Given the description of an element on the screen output the (x, y) to click on. 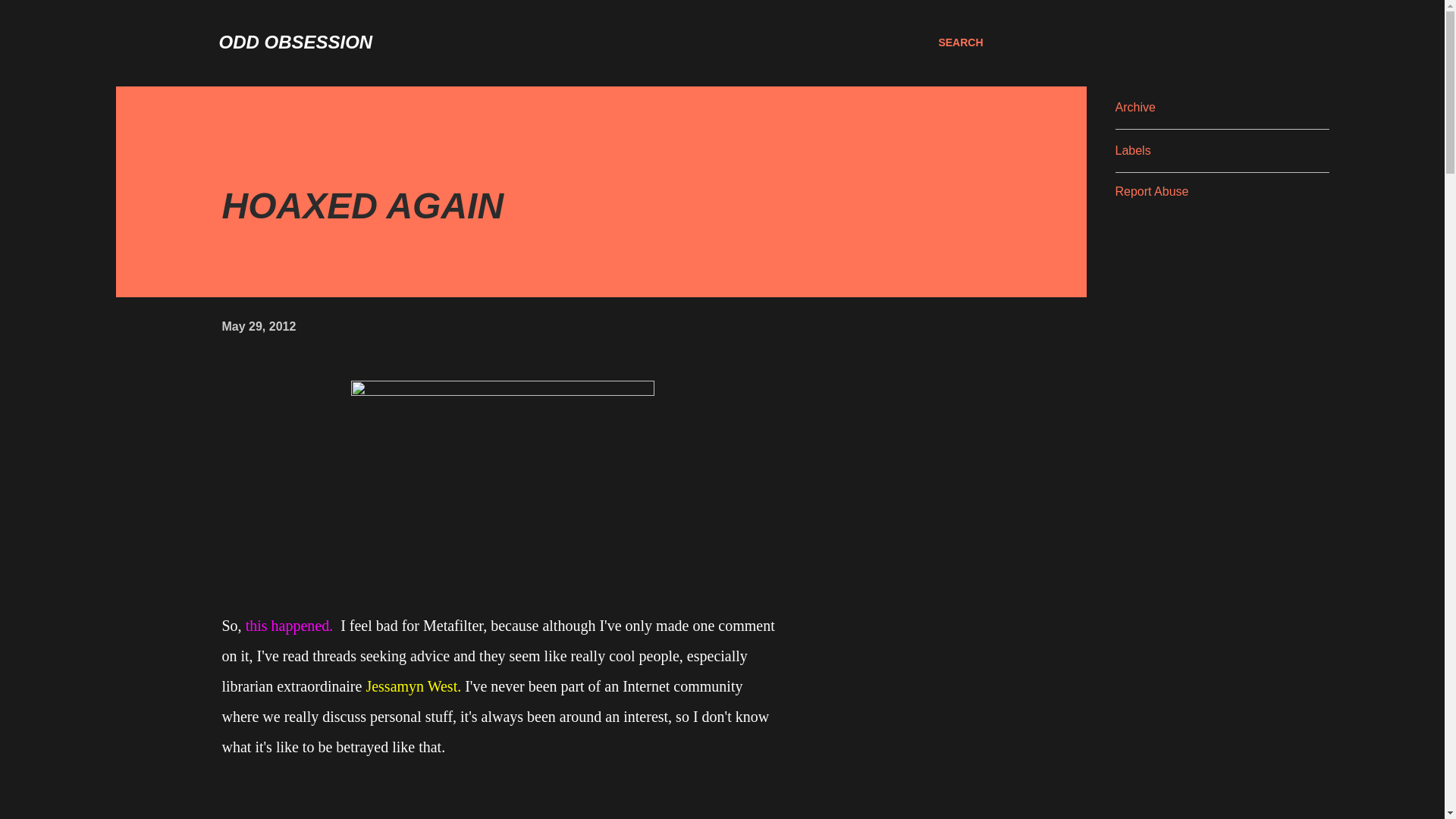
permanent link (258, 326)
ODD OBSESSION (295, 41)
May 29, 2012 (258, 326)
this happened (288, 625)
Jessamyn West (411, 686)
SEARCH (959, 42)
